Given the description of an element on the screen output the (x, y) to click on. 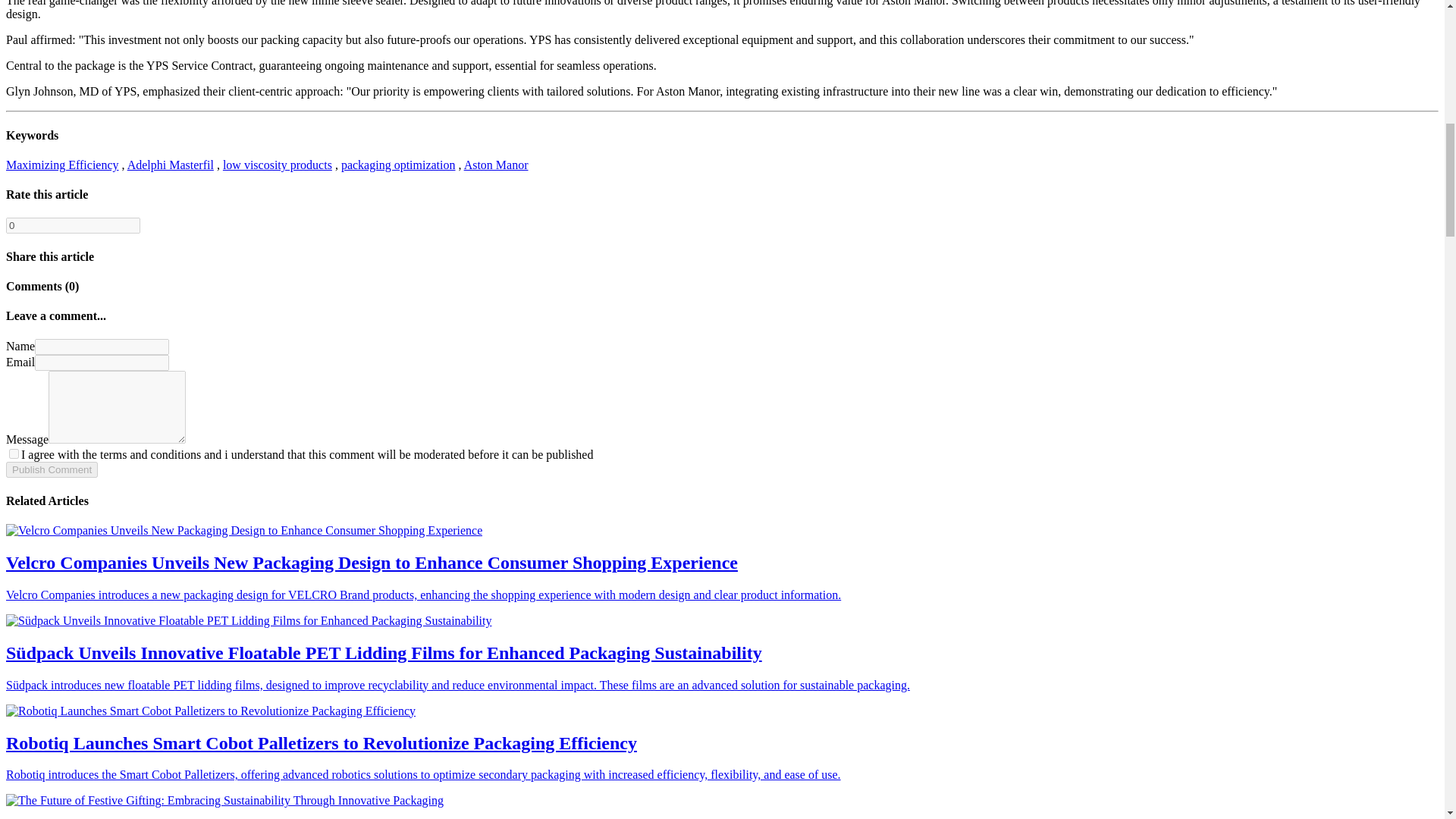
1 (13, 453)
packaging optimization (397, 164)
Aston Manor (496, 164)
Adelphi Masterfil (171, 164)
Publish Comment (51, 469)
Maximizing Efficiency (62, 164)
low viscosity products (276, 164)
0 (72, 225)
Publish Comment (51, 469)
